Given the description of an element on the screen output the (x, y) to click on. 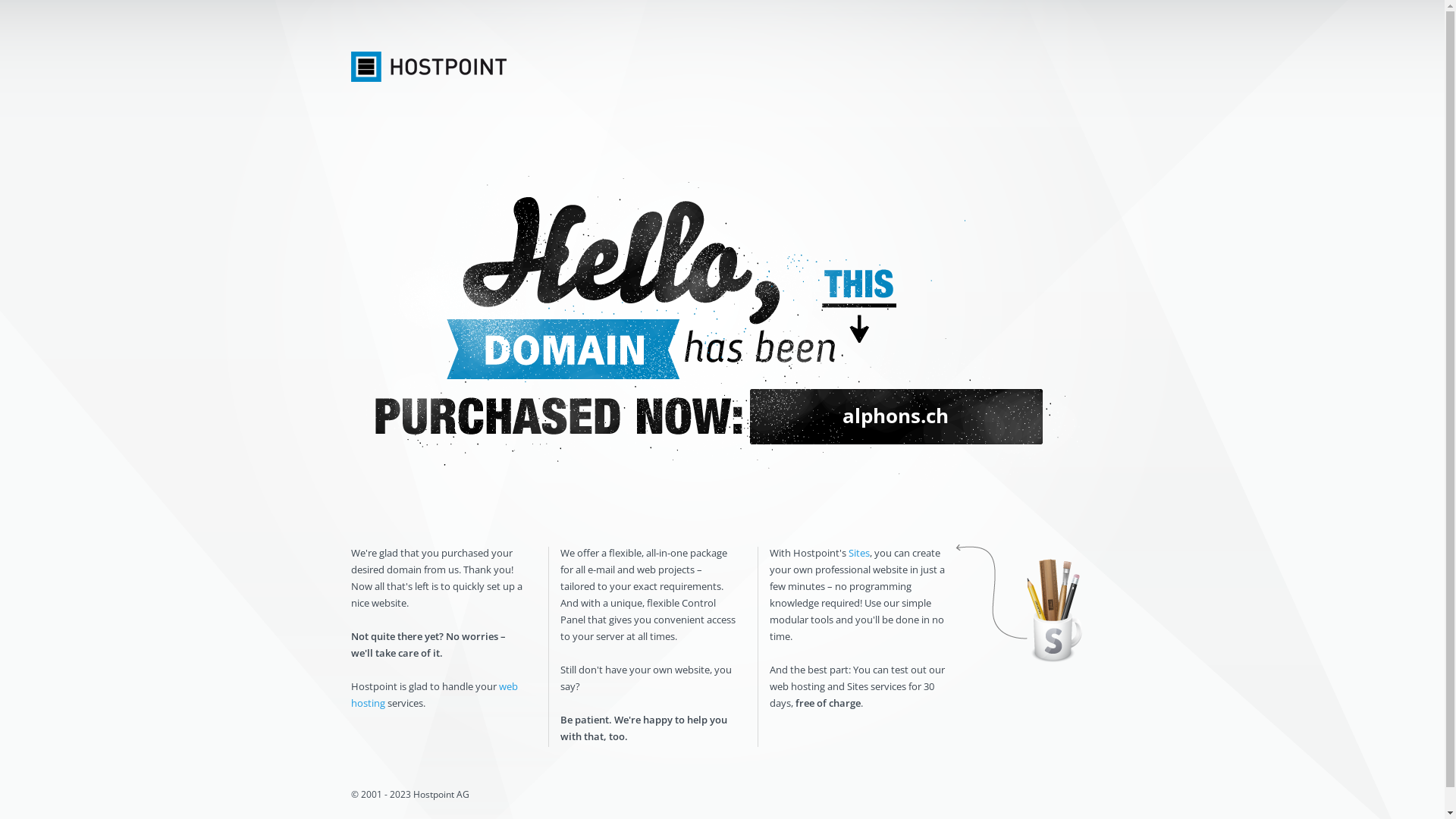
Sites Element type: text (858, 552)
web hosting Element type: text (433, 694)
